Given the description of an element on the screen output the (x, y) to click on. 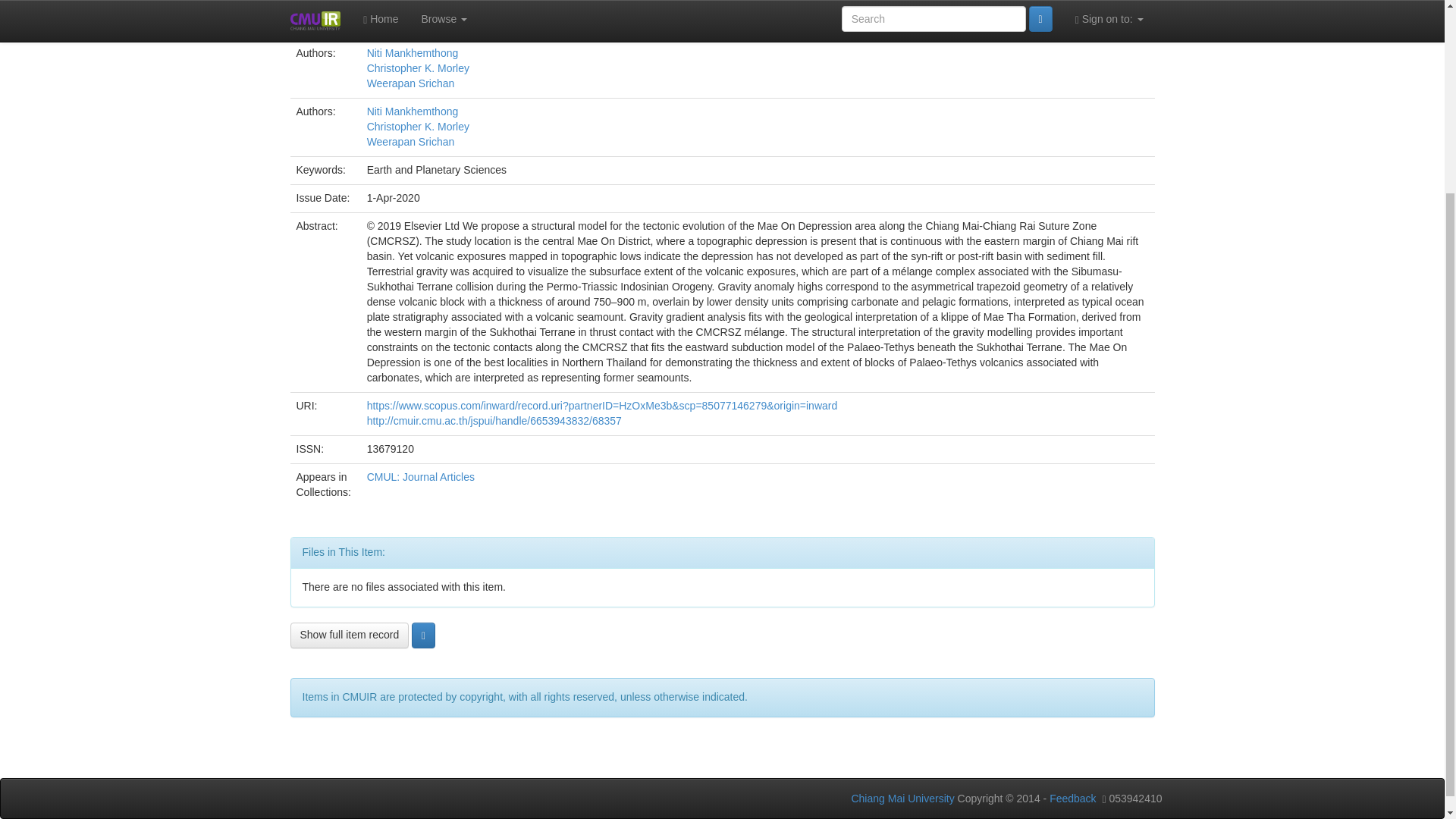
Weerapan Srichan (410, 82)
CMUL: Journal Articles (420, 476)
Feedback (1072, 798)
Christopher K. Morley (417, 68)
Niti Mankhemthong (412, 111)
Show full item record (349, 635)
Christopher K. Morley (417, 126)
Niti Mankhemthong (412, 52)
Weerapan Srichan (410, 141)
Chiang Mai University (901, 798)
